Given the description of an element on the screen output the (x, y) to click on. 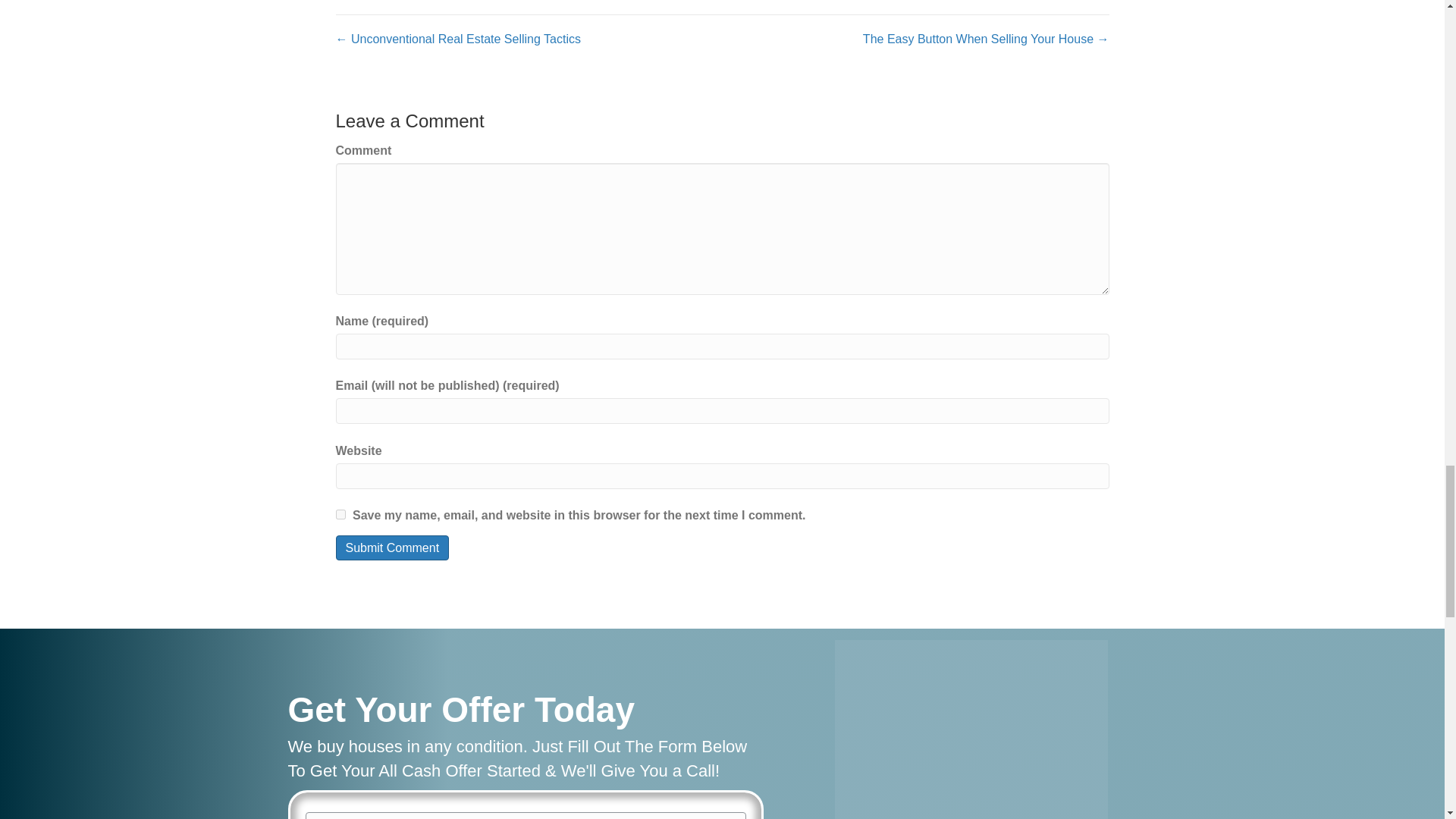
yes (339, 514)
Submit Comment (391, 547)
Submit Comment (391, 547)
Footer Get Offer (971, 729)
